Given the description of an element on the screen output the (x, y) to click on. 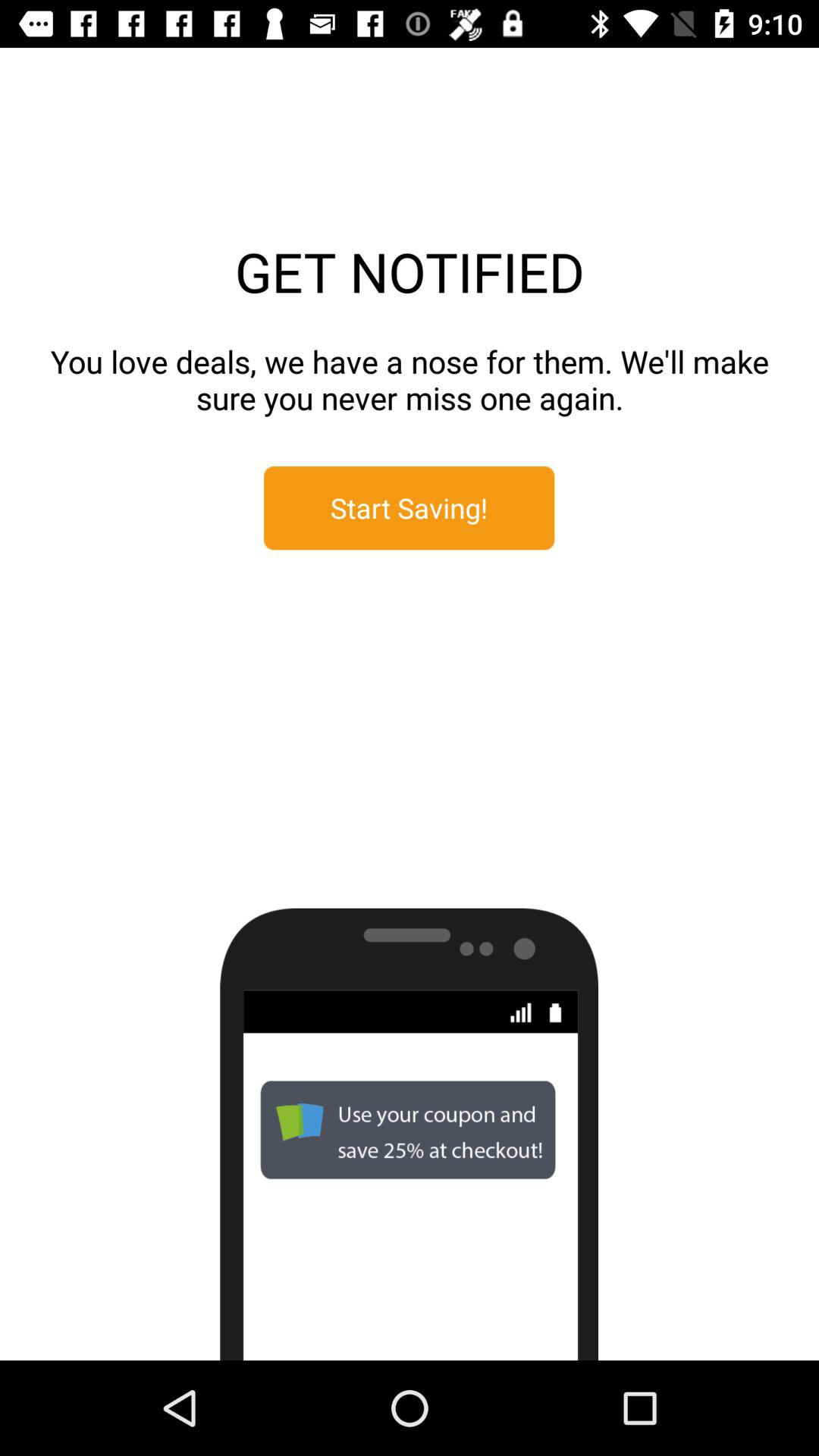
scroll until start saving! item (408, 507)
